Given the description of an element on the screen output the (x, y) to click on. 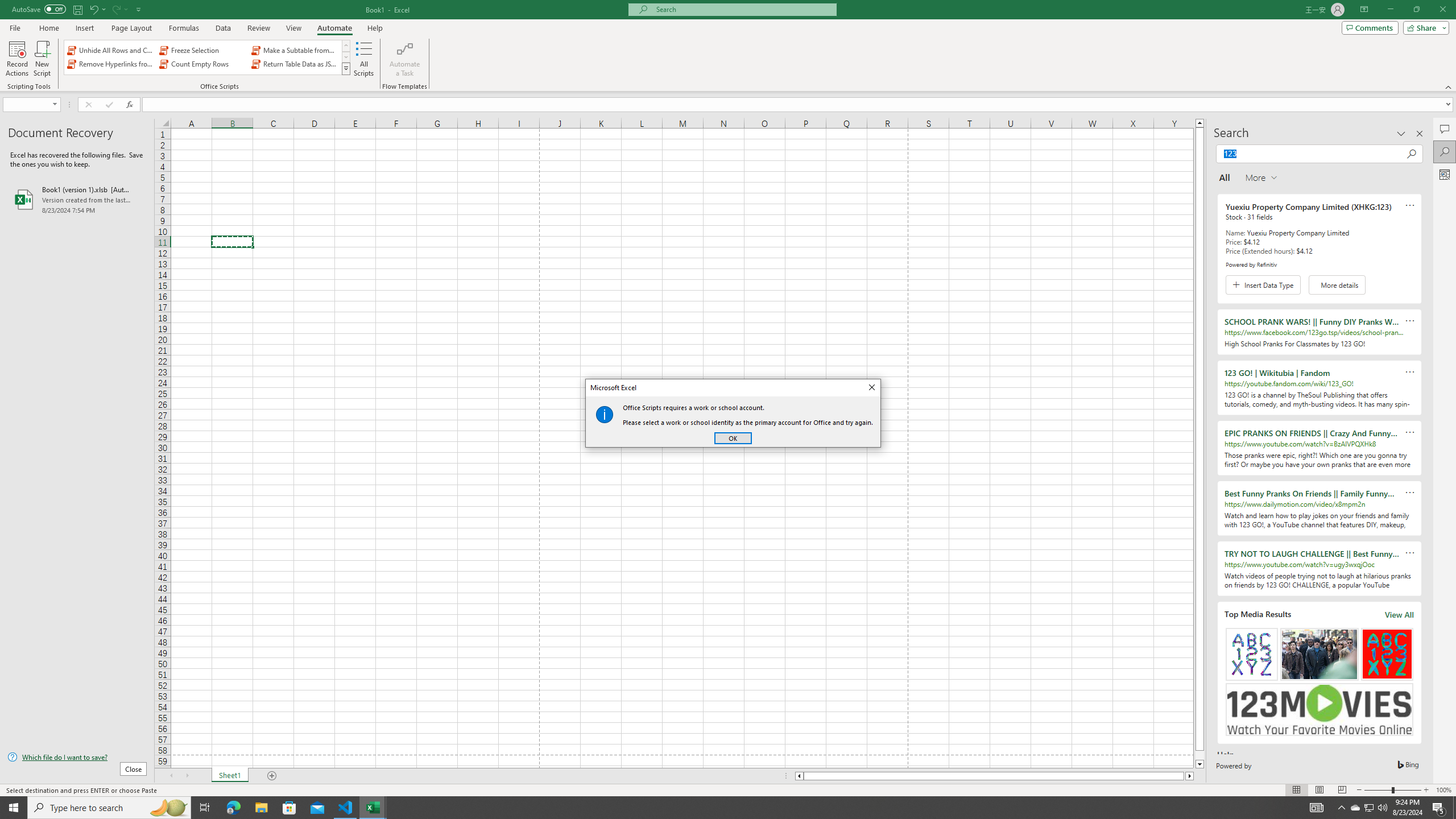
Start (13, 807)
Unhide All Rows and Columns (111, 50)
Make a Subtable from a Selection (294, 50)
All Scripts (363, 58)
Remove Hyperlinks from Sheet (111, 64)
